Given the description of an element on the screen output the (x, y) to click on. 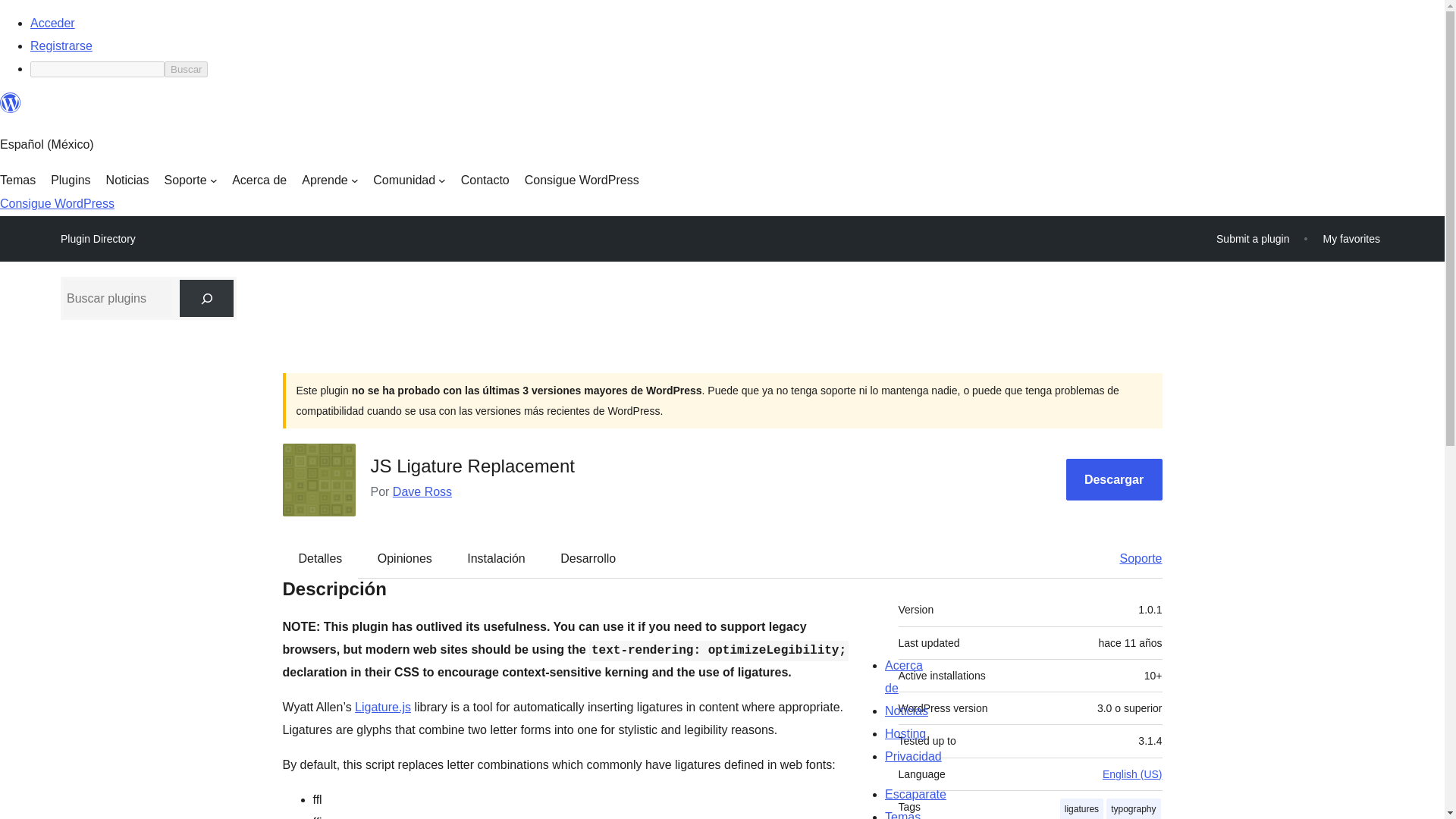
Soporte (190, 180)
Noticias (127, 179)
WordPress.org (10, 102)
My favorites (1351, 238)
Registrarse (61, 45)
Buscar (186, 68)
Plugin Directory (97, 238)
Consigue WordPress (581, 179)
Submit a plugin (1253, 238)
Descargar (1113, 479)
